Given the description of an element on the screen output the (x, y) to click on. 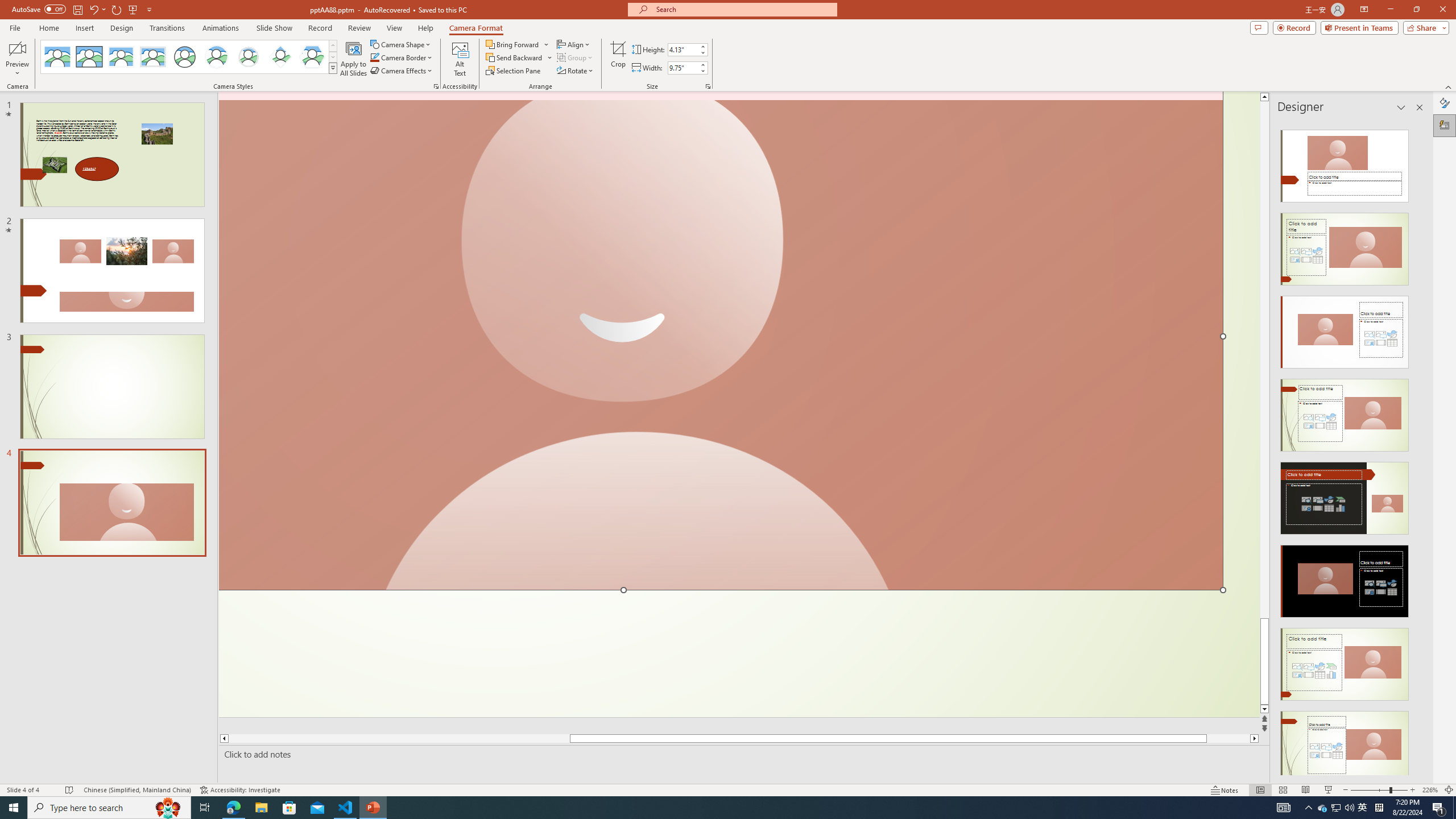
AutomationID: CameoStylesGallery (189, 56)
Class: NetUIScrollBar (1418, 447)
Simple Frame Circle (184, 56)
Center Shadow Rectangle (120, 56)
Bring Forward (517, 44)
Camera Styles (333, 67)
Selection Pane... (513, 69)
Crop (617, 58)
